Given the description of an element on the screen output the (x, y) to click on. 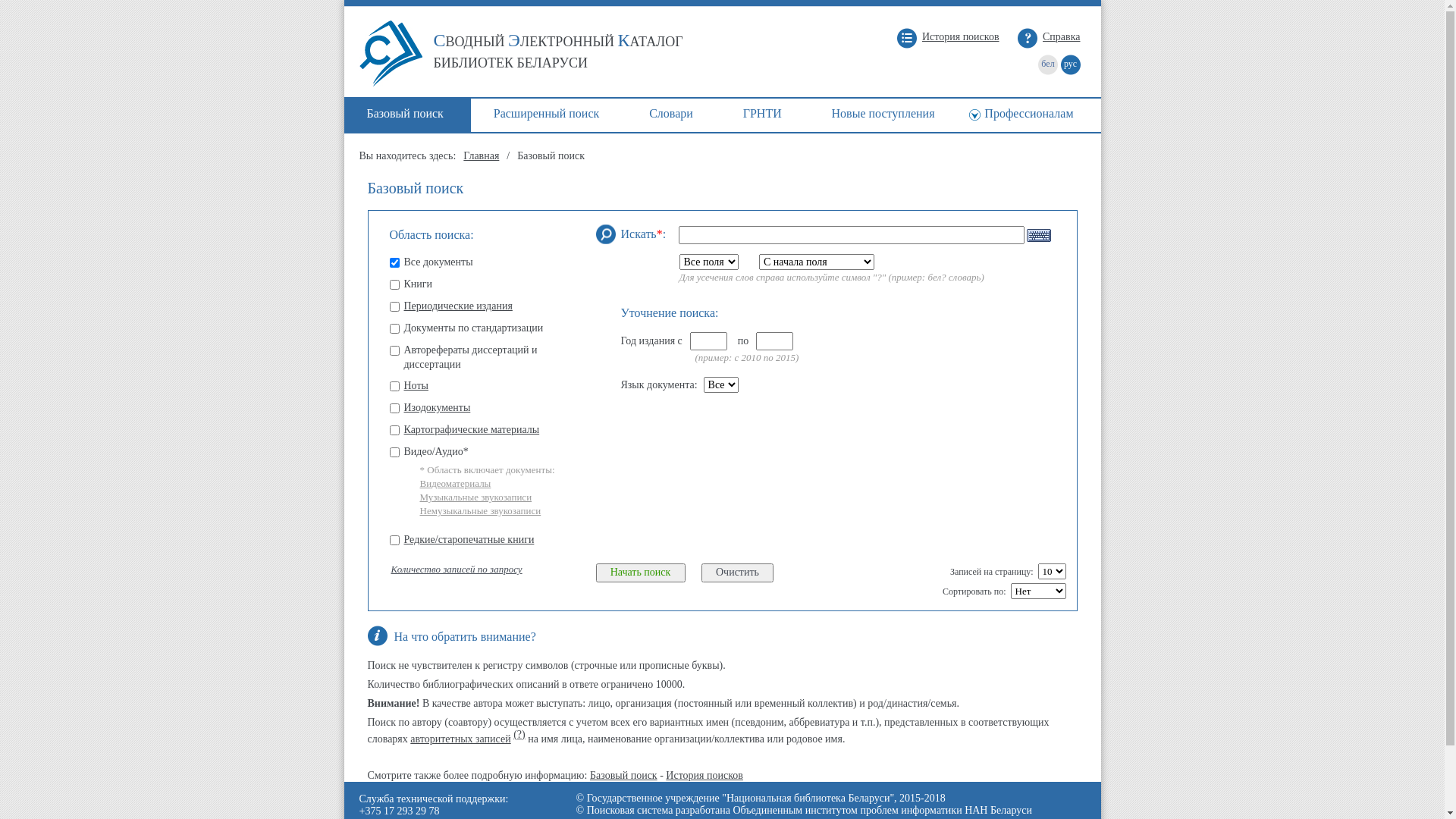
a,d Element type: text (394, 350)
s Element type: text (394, 306)
u Element type: text (394, 328)
all Element type: text (394, 262)
m Element type: text (394, 430)
(?) Element type: text (519, 734)
g Element type: text (394, 408)
b,i,o,h Element type: text (394, 284)
n Element type: text (394, 386)
v Element type: text (394, 452)
o Element type: text (394, 540)
